Given the description of an element on the screen output the (x, y) to click on. 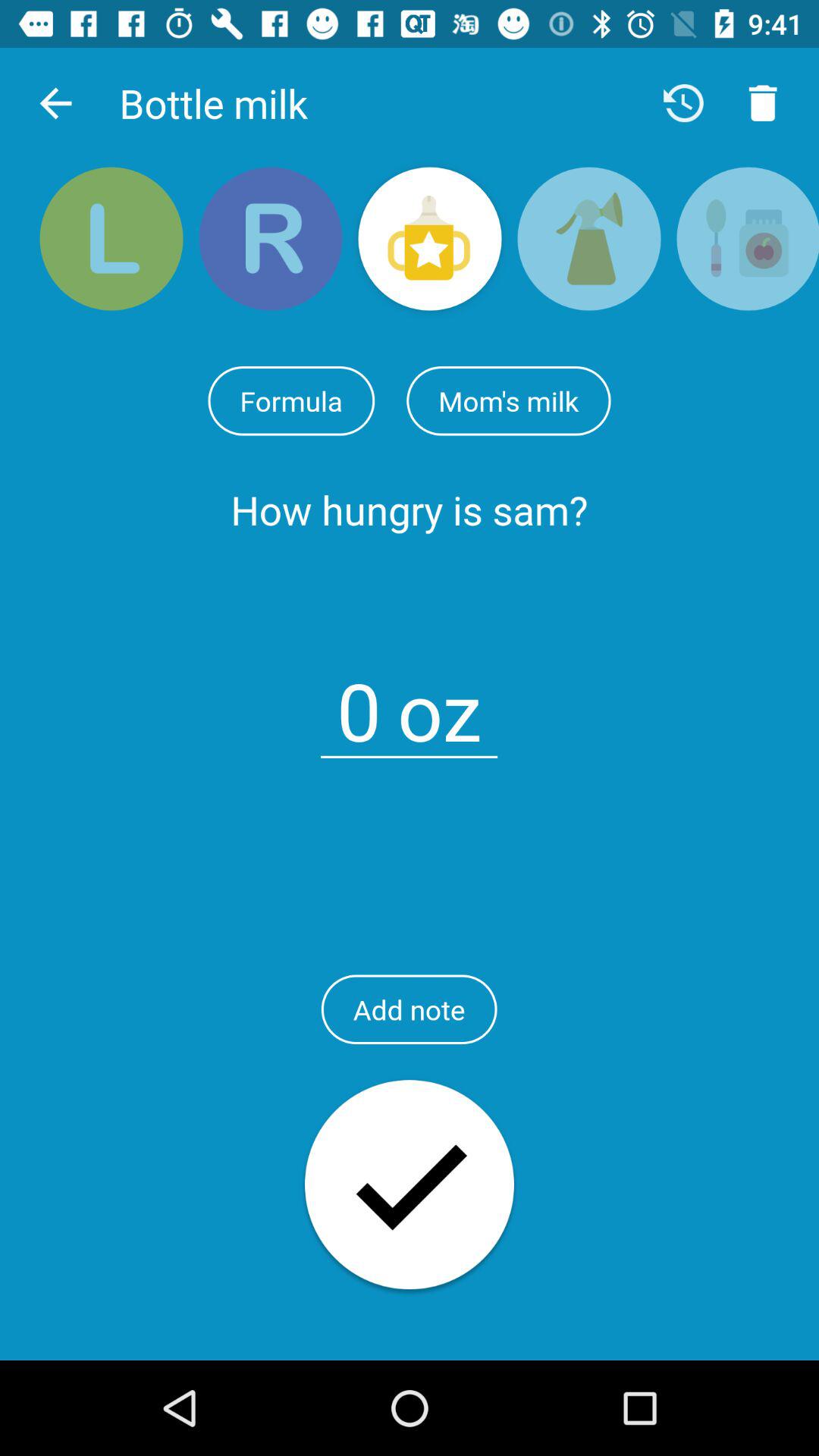
turn off the item next to formula (508, 400)
